Given the description of an element on the screen output the (x, y) to click on. 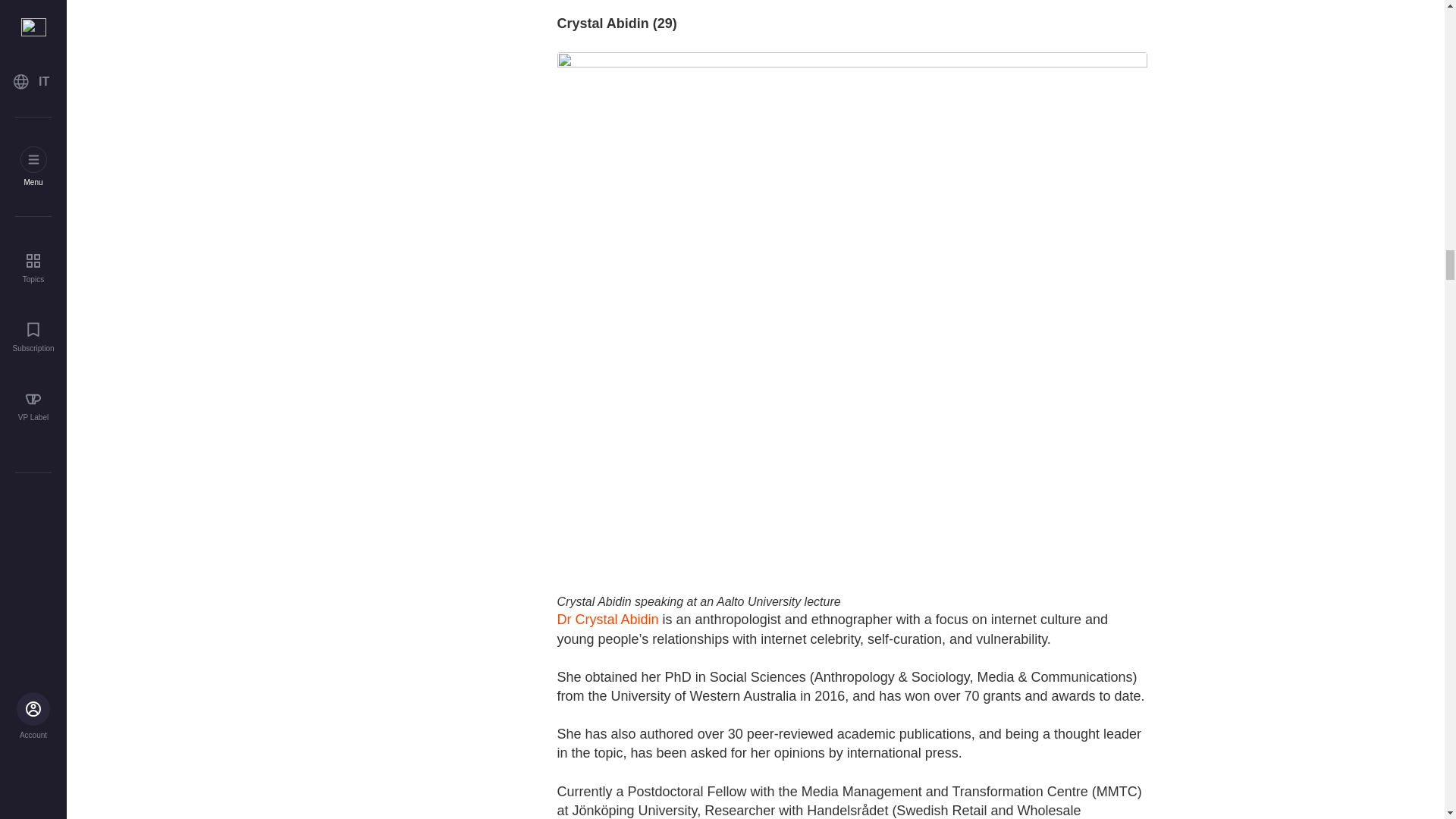
Dr Crystal Abidin (607, 619)
